Given the description of an element on the screen output the (x, y) to click on. 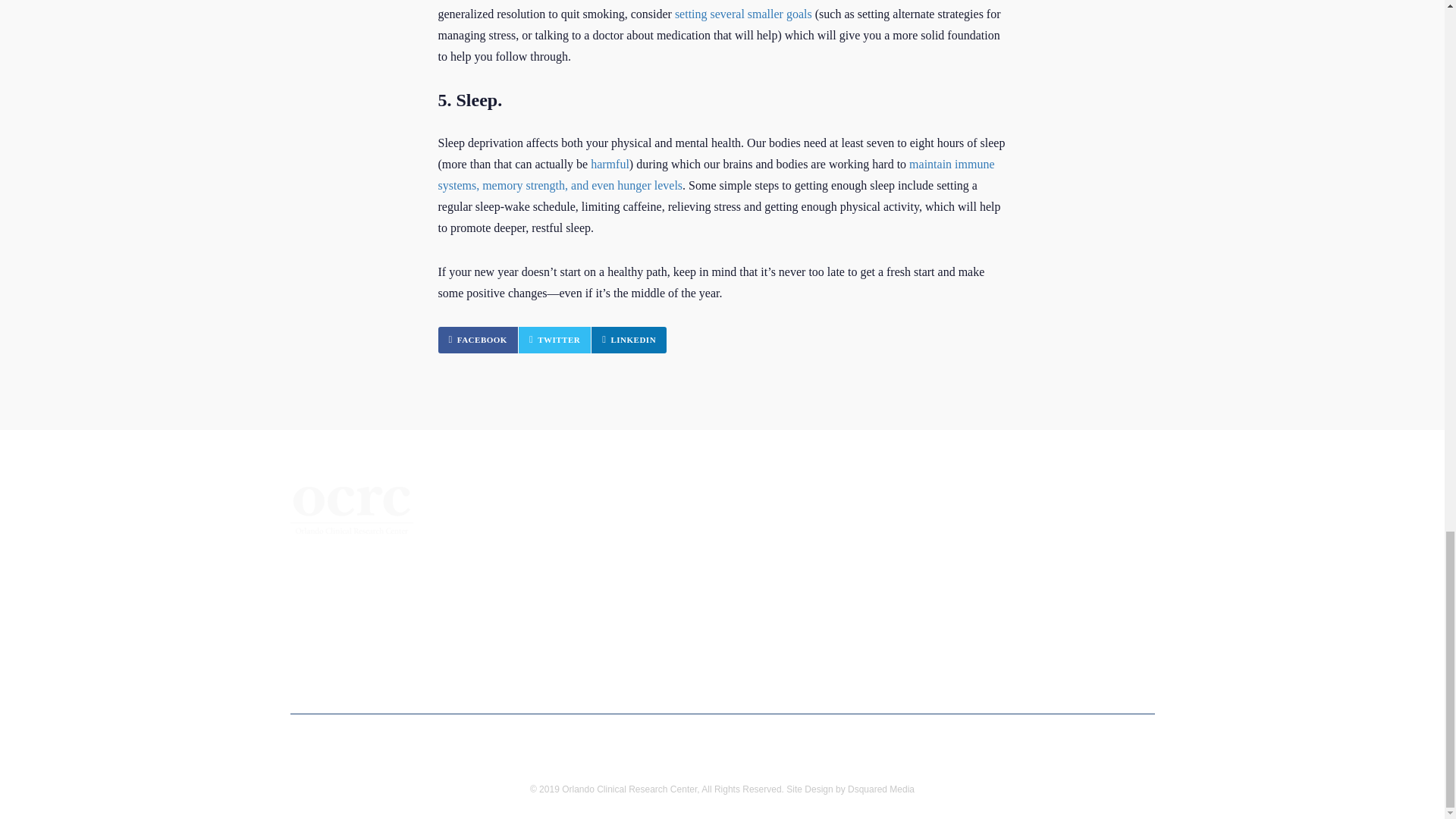
About Us (535, 555)
407.240.7878 (355, 564)
407.240.7878 (355, 564)
LINKEDIN (628, 339)
Home (526, 528)
TWITTER (554, 339)
FACEBOOK (351, 519)
Dsquared Media (478, 339)
